Given the description of an element on the screen output the (x, y) to click on. 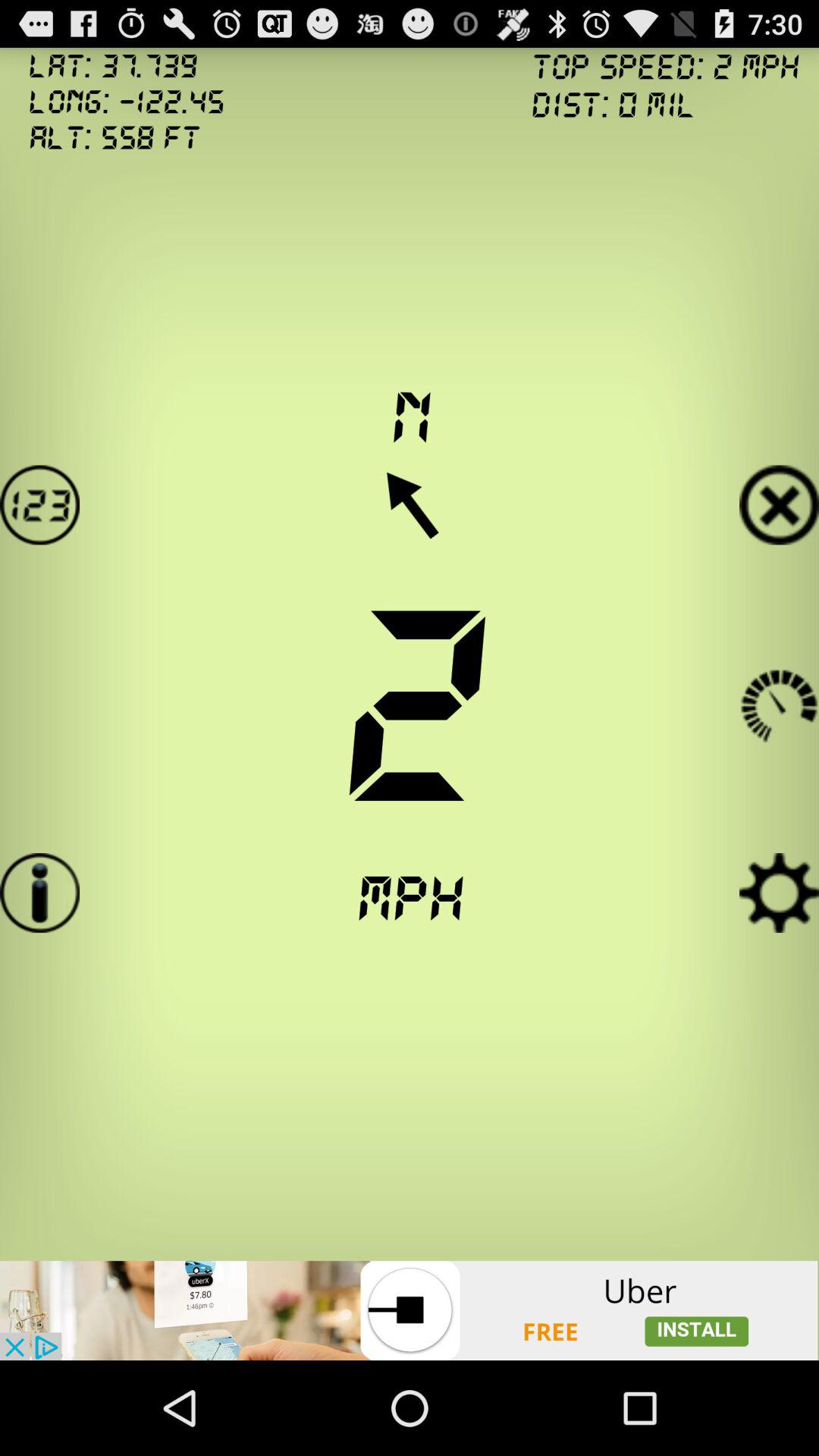
access app settings (779, 892)
